Given the description of an element on the screen output the (x, y) to click on. 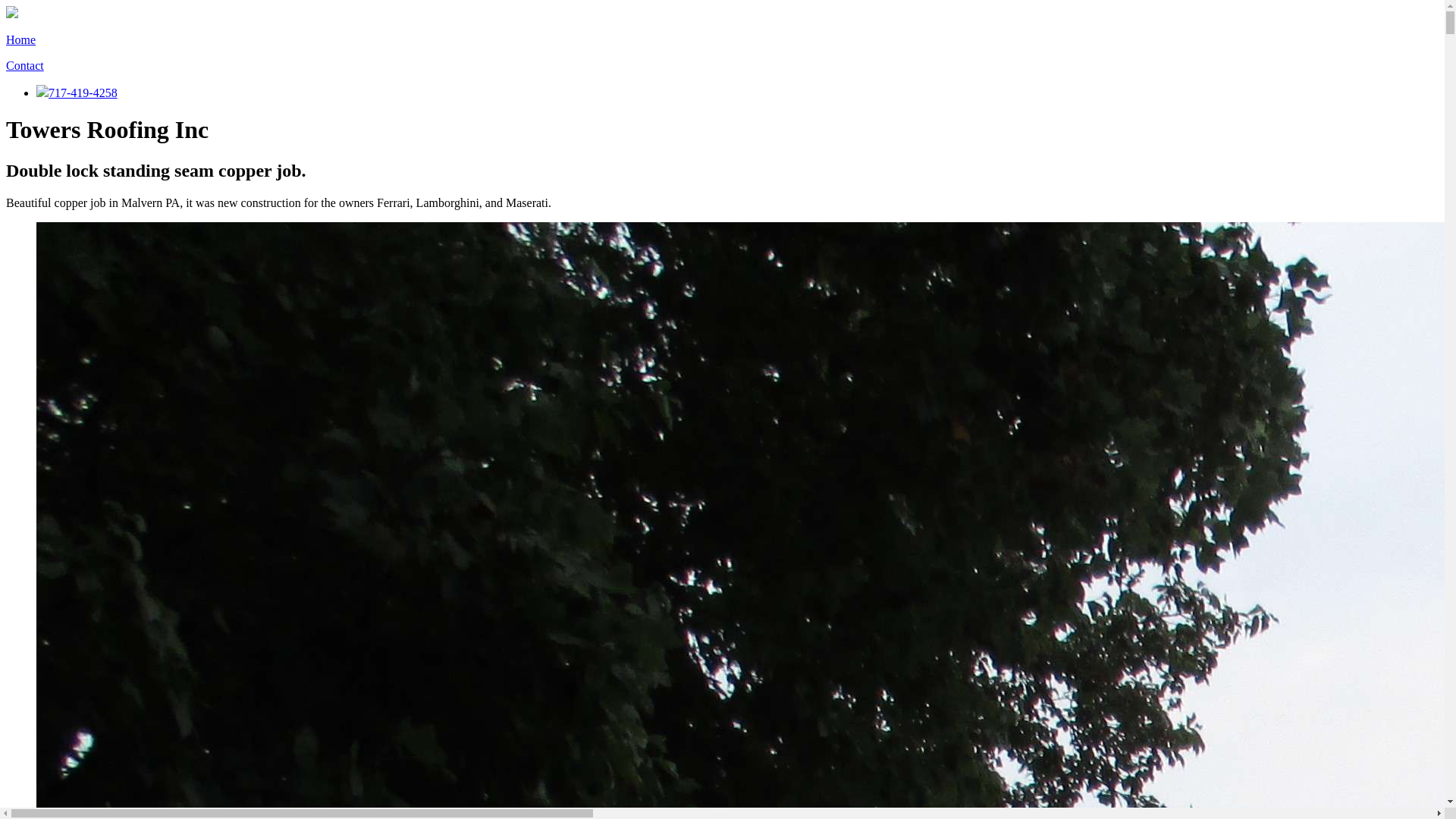
717-419-4258 Element type: text (76, 92)
Home Element type: text (20, 39)
Contact Element type: text (24, 65)
